Given the description of an element on the screen output the (x, y) to click on. 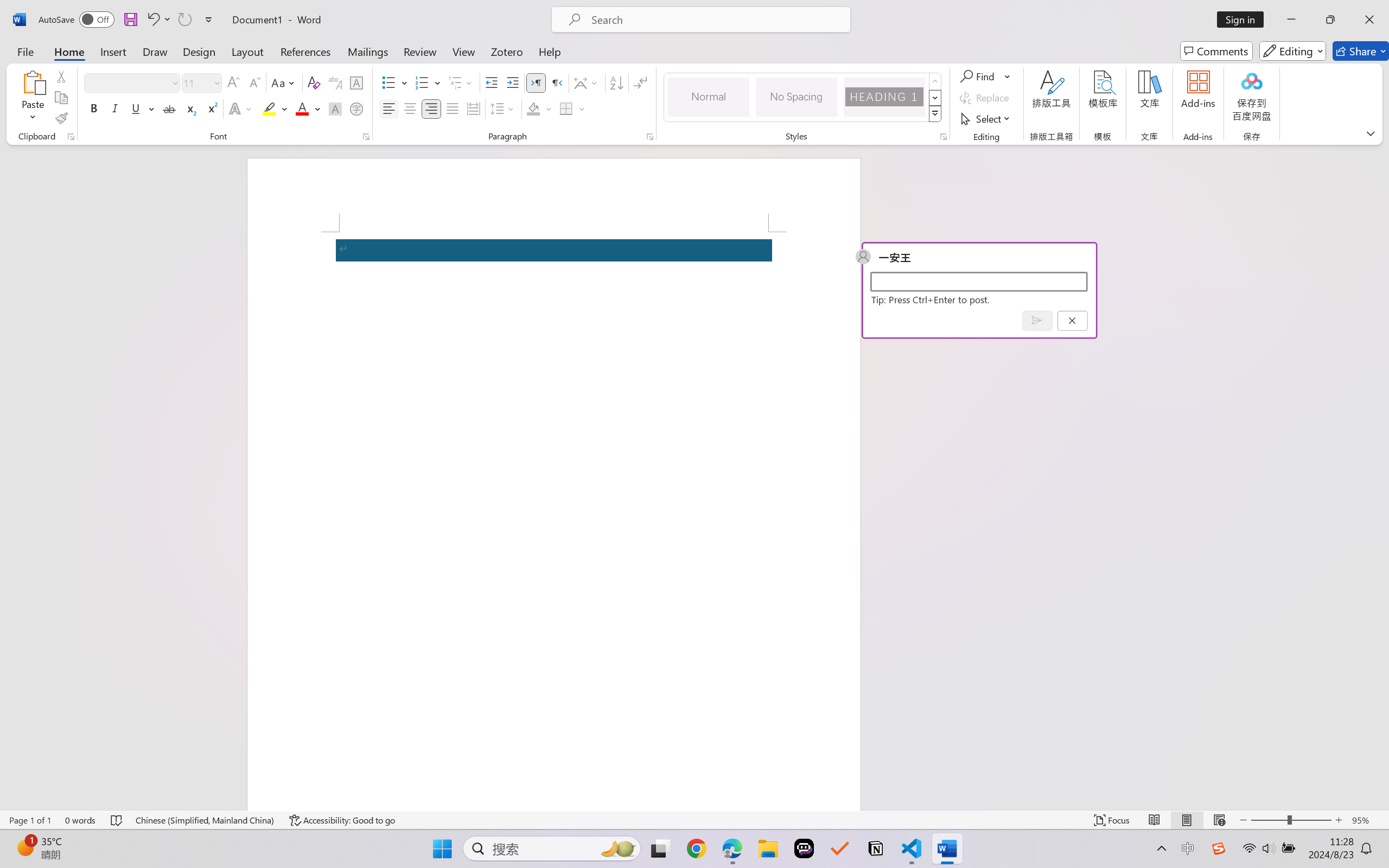
Left-to-Right (535, 82)
